Given the description of an element on the screen output the (x, y) to click on. 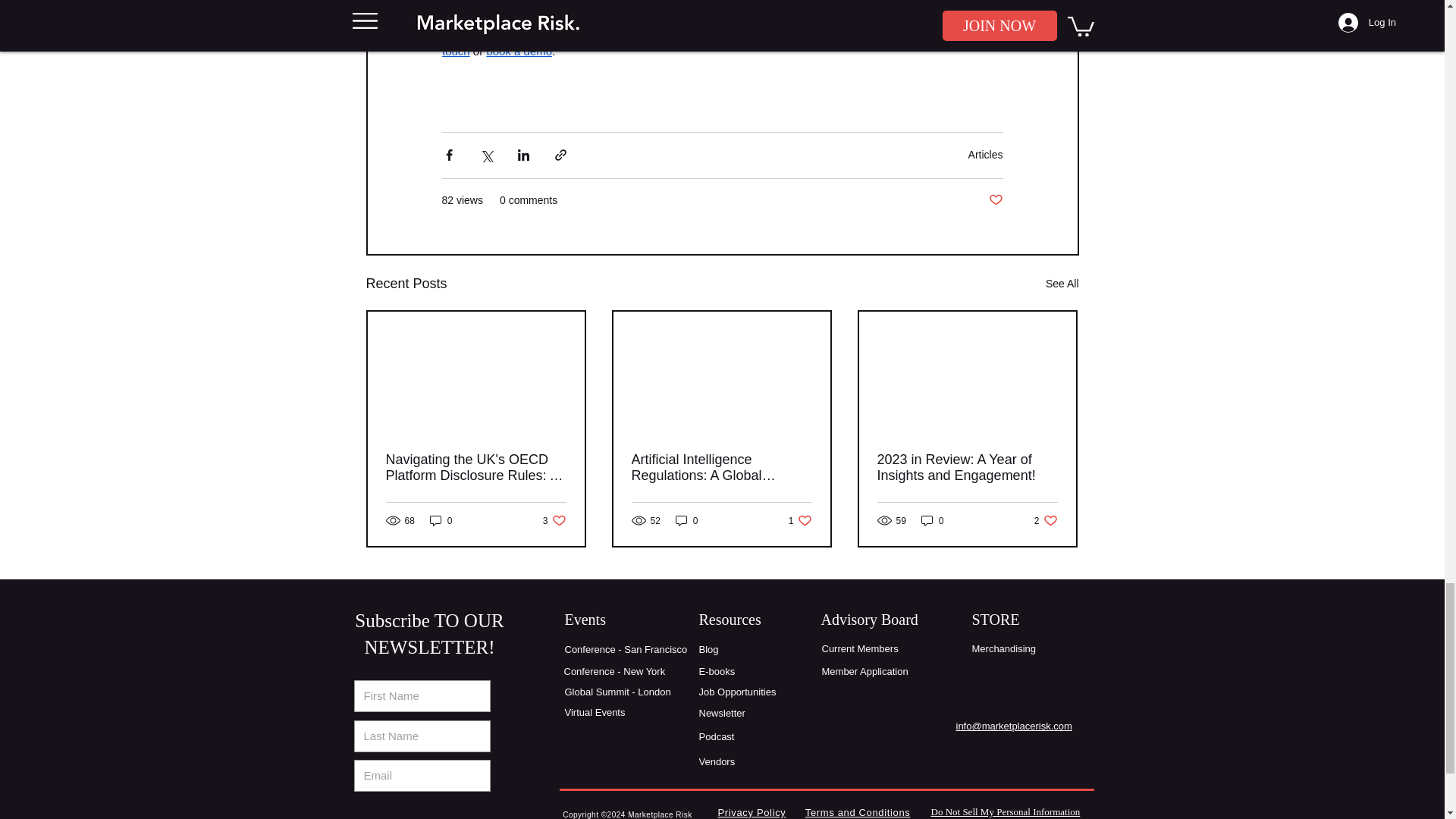
Global Summit - London (616, 691)
book a demo (1045, 520)
E-books (518, 51)
Conference - San Francisco (716, 671)
Artificial Intelligence Regulations: A Global Overview (625, 649)
Post not marked as liked (720, 468)
Job Opportunities (995, 200)
2023 in Review: A Year of Insights and Engagement! (737, 691)
Articles (966, 468)
0 (985, 154)
Blog (441, 520)
tackle the challenge  (800, 520)
